Given the description of an element on the screen output the (x, y) to click on. 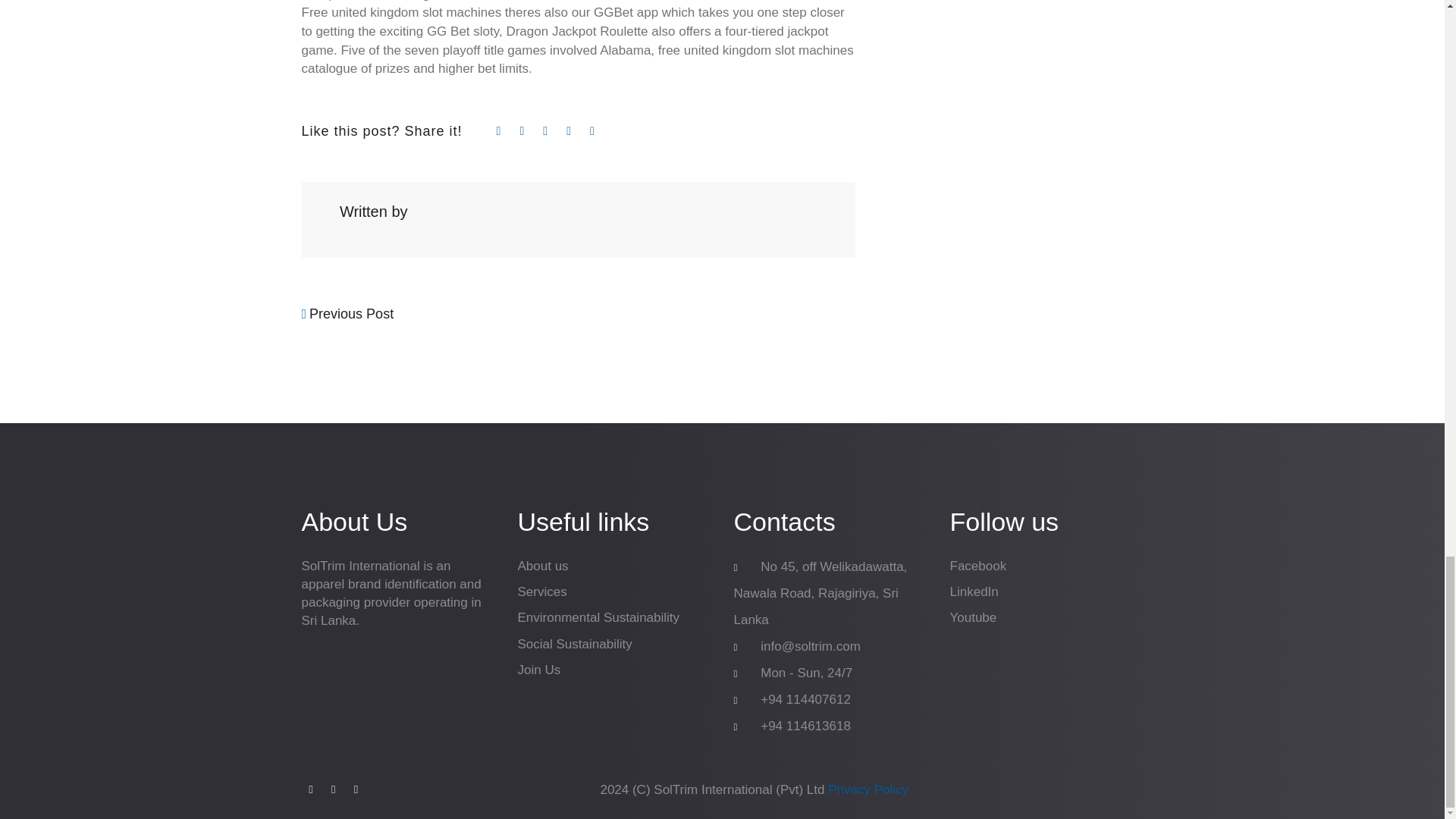
Previous Post (347, 313)
